Given the description of an element on the screen output the (x, y) to click on. 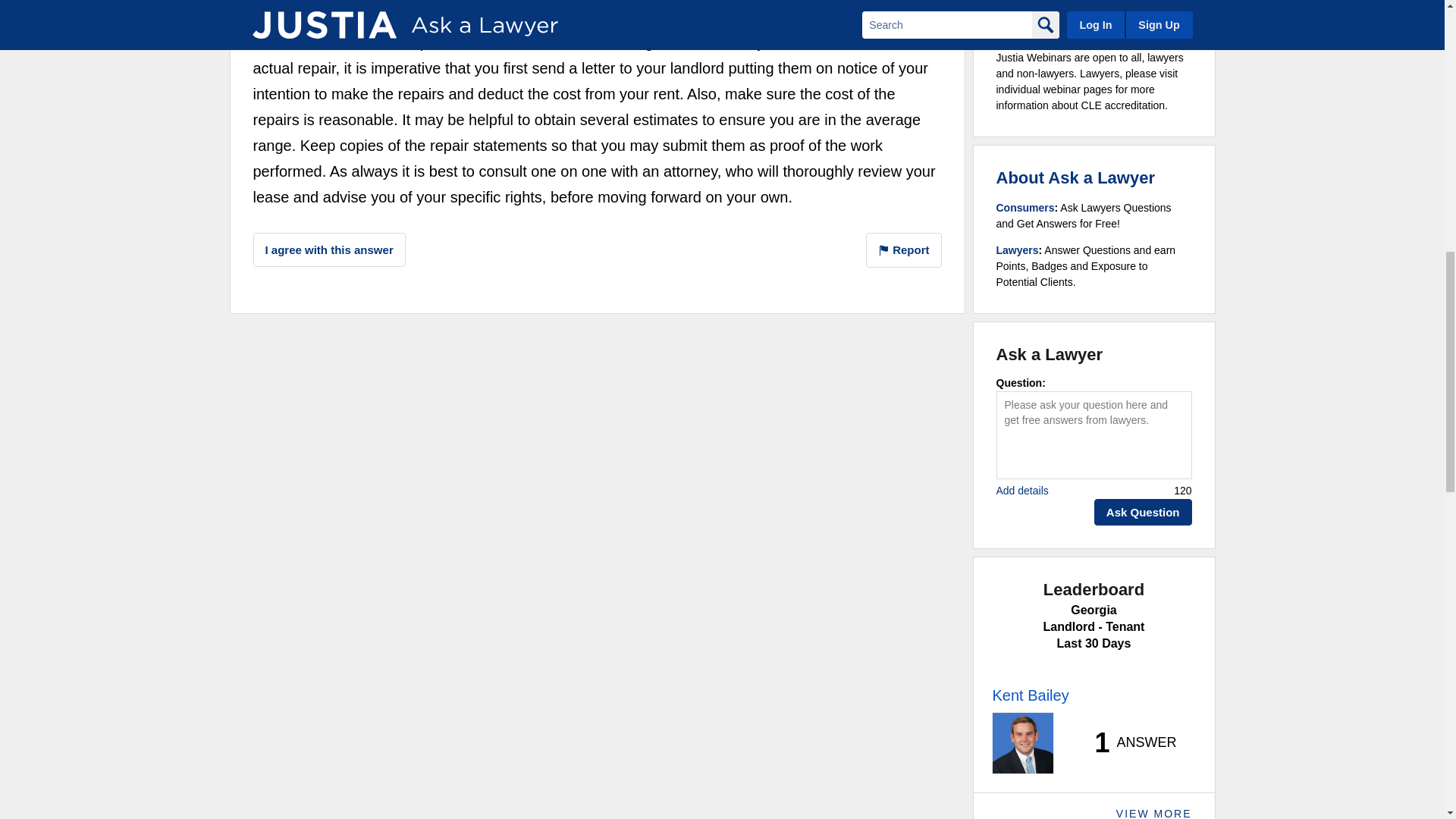
Ask a Lawyer - Leaderboard - Lawyer Name (1029, 694)
Ask a Lawyer - Leaderboard - Lawyer Stats (1127, 742)
Ask a Lawyer - FAQs - Lawyers (1017, 250)
Report (904, 250)
Ask a Lawyer - Leaderboard - Lawyer Photo (1021, 742)
Ask a Lawyer - FAQs - Consumers (1024, 207)
I agree with this answer (329, 249)
